Given the description of an element on the screen output the (x, y) to click on. 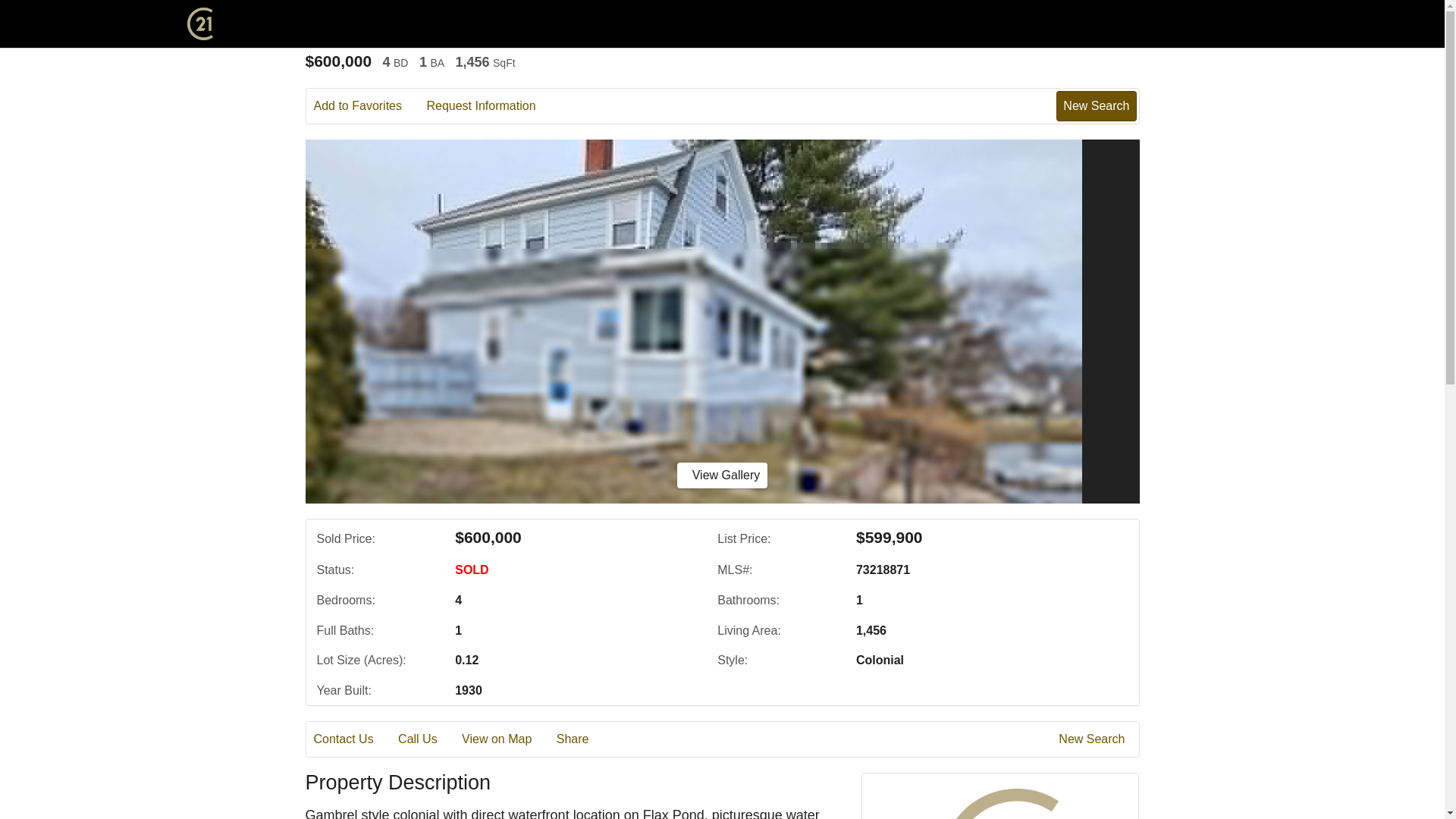
View Gallery (722, 474)
New Search (1096, 105)
New Search (1094, 739)
View on Map (507, 739)
Request Information (491, 106)
Add to Favorites (368, 106)
Call Us (427, 739)
View Gallery (722, 475)
Contact Us (354, 739)
Share (583, 739)
